Given the description of an element on the screen output the (x, y) to click on. 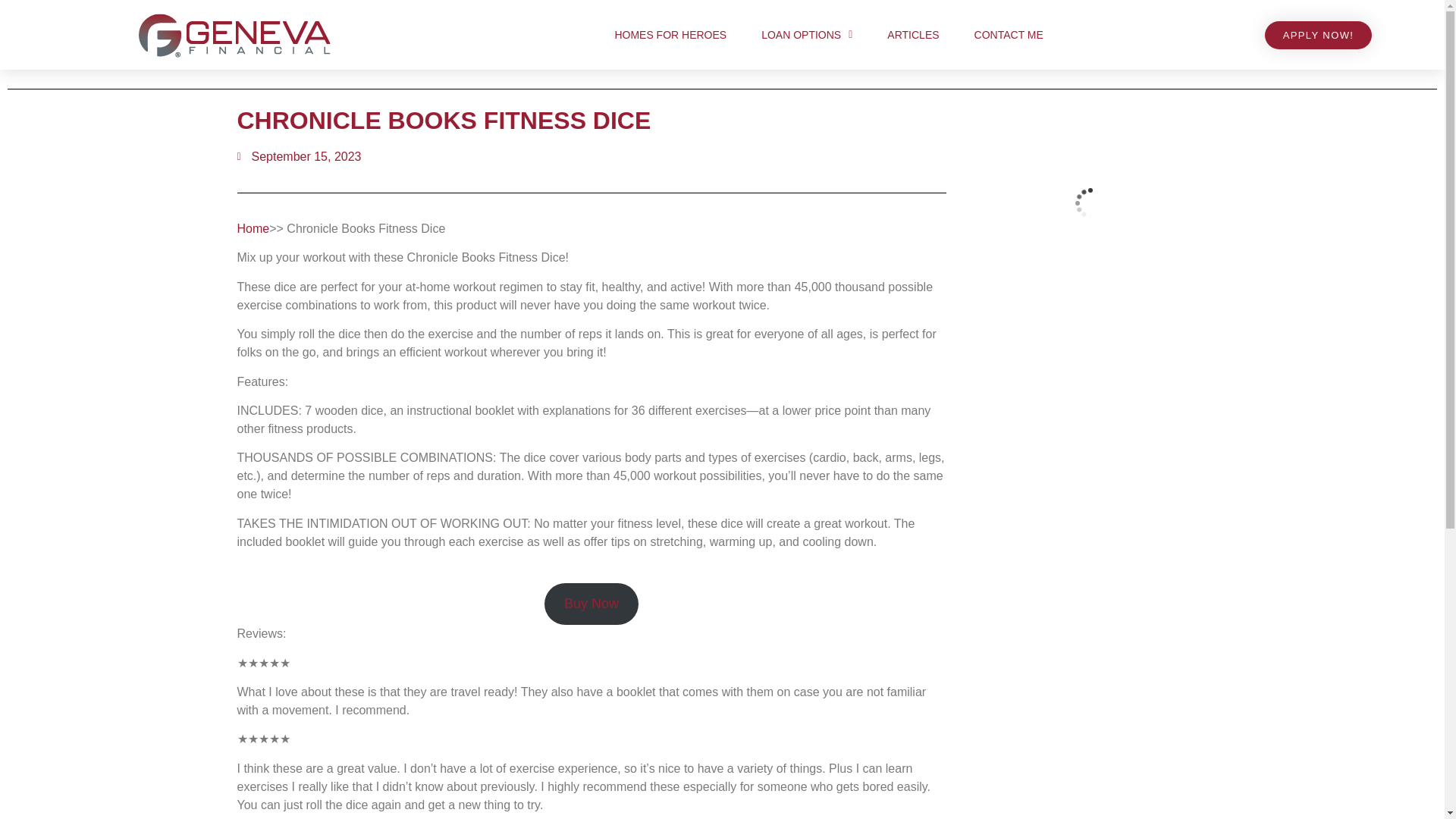
HOMES FOR HEROES (669, 34)
LOAN OPTIONS (806, 34)
APPLY NOW! (1319, 35)
CONTACT ME (1008, 34)
ARTICLES (912, 34)
